Given the description of an element on the screen output the (x, y) to click on. 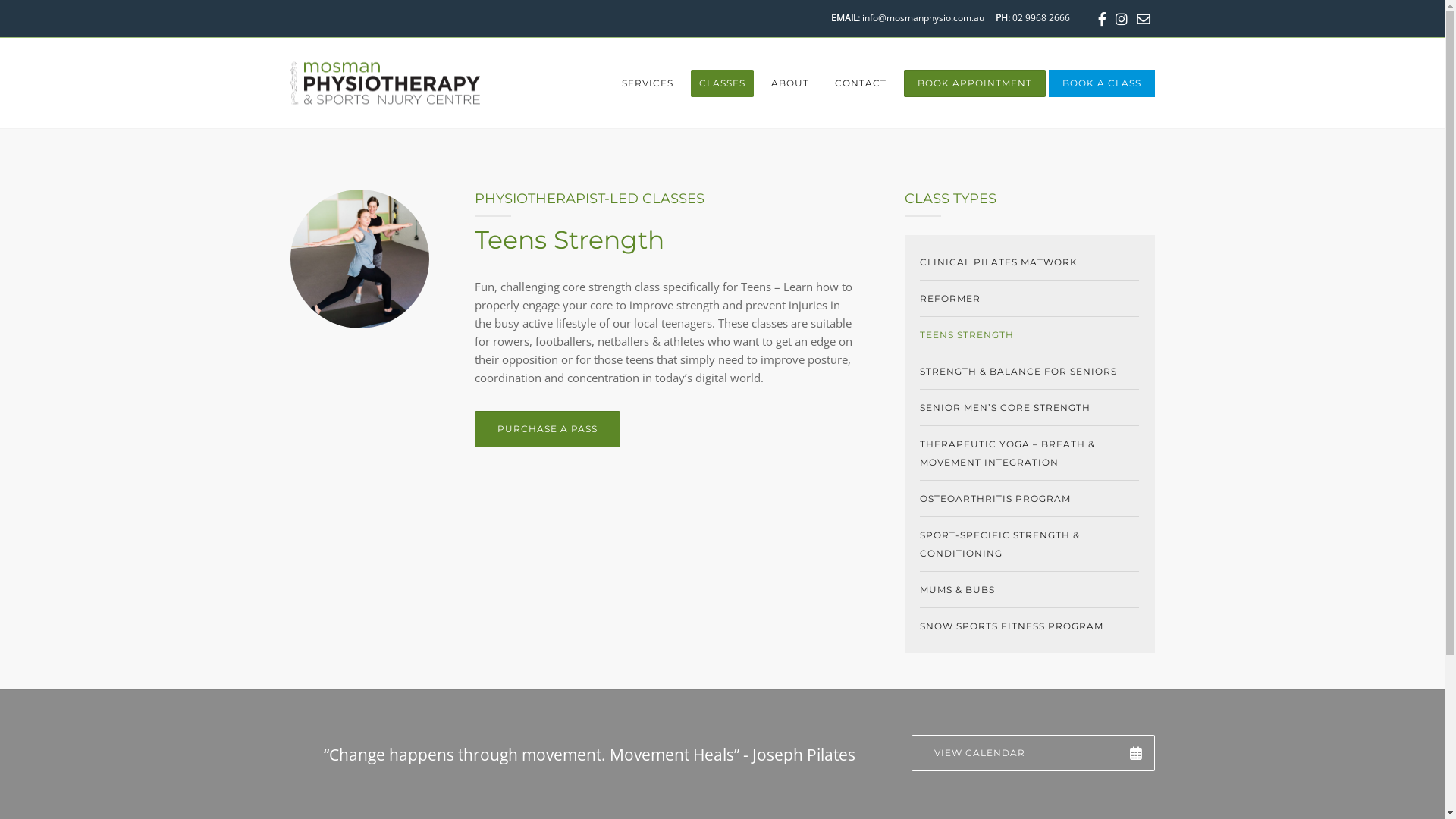
VIEW CALENDAR Element type: text (1032, 752)
ABOUT Element type: text (789, 83)
OSTEOARTHRITIS PROGRAM Element type: text (1029, 498)
CLINICAL PILATES MATWORK Element type: text (1029, 262)
BOOK A CLASS Element type: text (1101, 82)
SERVICES Element type: text (646, 83)
PURCHASE A PASS Element type: text (547, 429)
CONTACT Element type: text (860, 83)
SNOW SPORTS FITNESS PROGRAM Element type: text (1029, 625)
02 9968 2666 Element type: text (1040, 17)
REFORMER Element type: text (1029, 298)
BOOK APPOINTMENT Element type: text (974, 83)
STRENGTH & BALANCE FOR SENIORS Element type: text (1029, 371)
CLASSES Element type: text (721, 83)
TEENS STRENGTH Element type: text (1029, 334)
MUMS & BUBS Element type: text (1029, 589)
SPORT-SPECIFIC STRENGTH & CONDITIONING Element type: text (1029, 544)
